Given the description of an element on the screen output the (x, y) to click on. 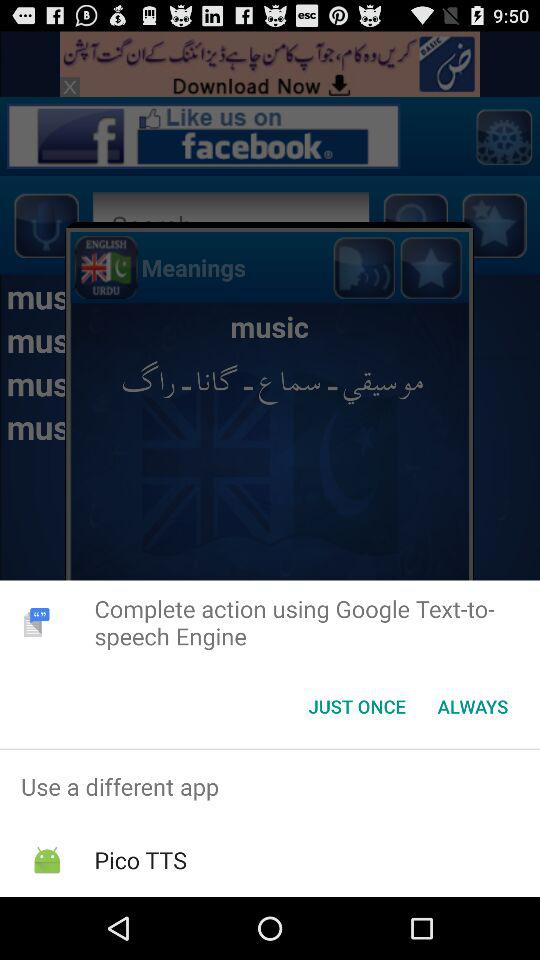
jump until the just once item (356, 706)
